Given the description of an element on the screen output the (x, y) to click on. 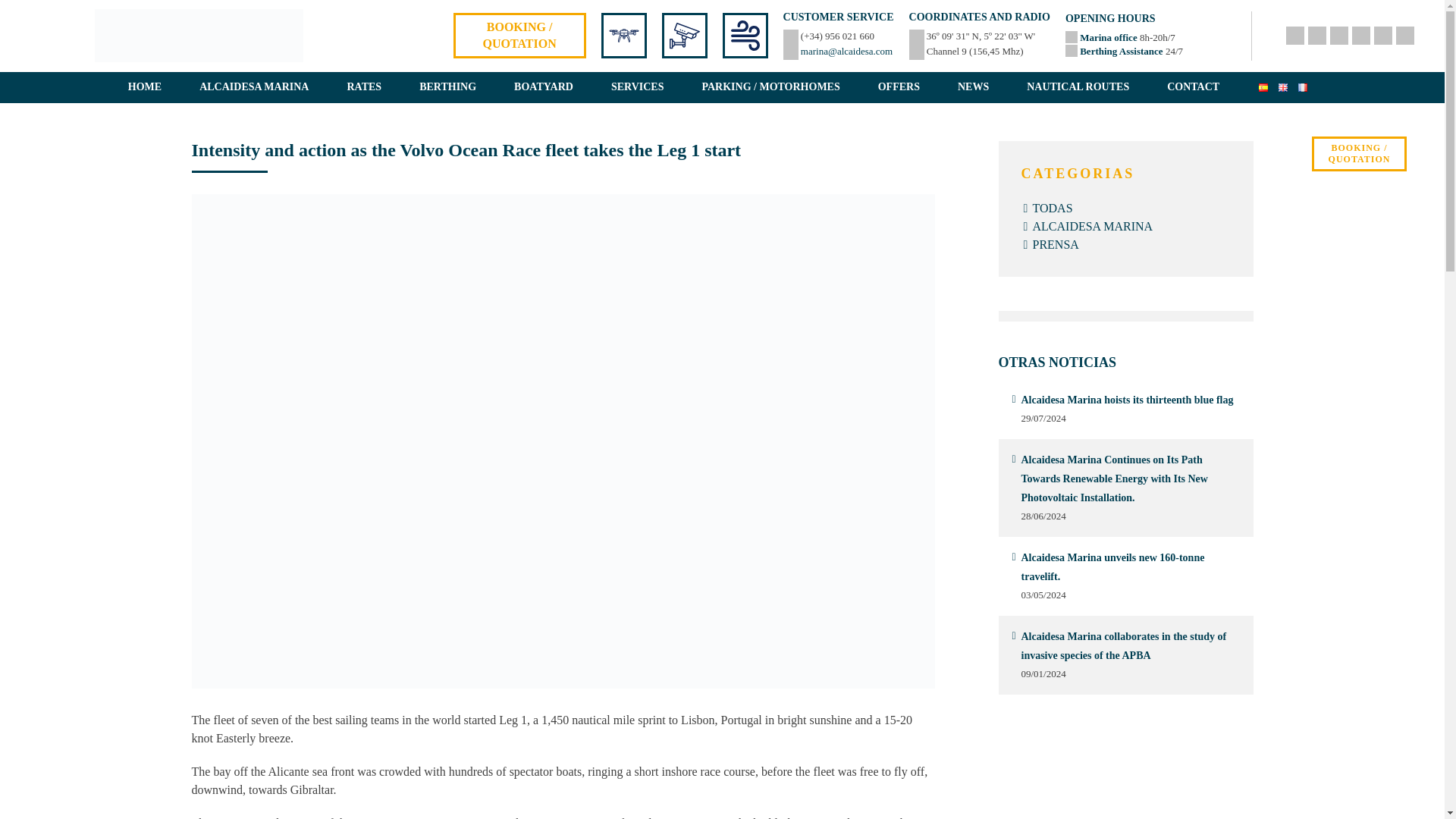
BERTHING (447, 87)
ALCAIDESA MARINA (253, 87)
Wind (745, 35)
BOATYARD (543, 87)
RATES (363, 87)
HOME (144, 87)
Virtual Tour (623, 35)
SERVICES (637, 87)
